Given the description of an element on the screen output the (x, y) to click on. 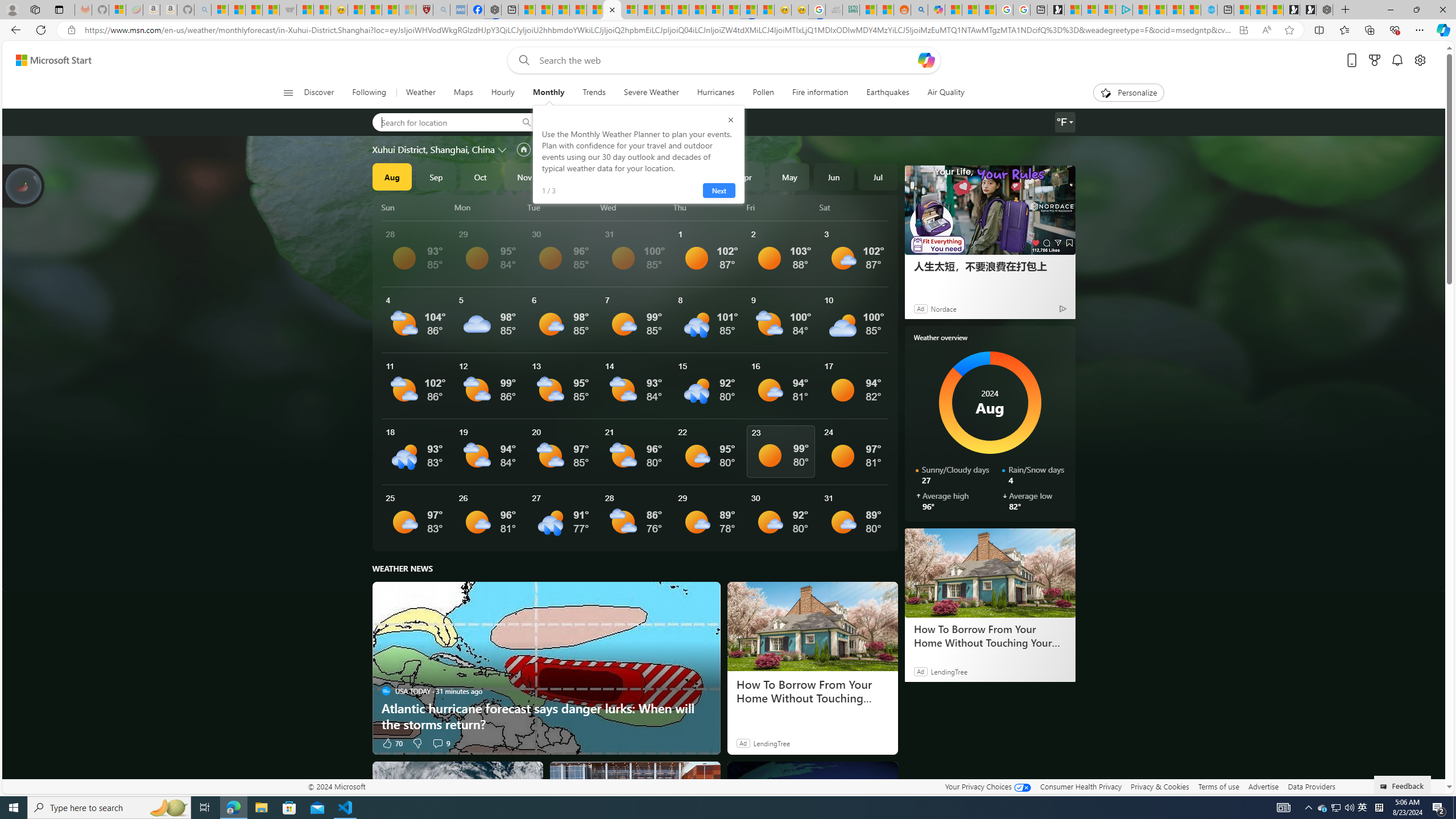
Web search (520, 60)
Search for location (440, 122)
Dec (568, 176)
Microsoft rewards (1374, 60)
Utah sues federal government - Search (919, 9)
Home | Sky Blue Bikes - Sky Blue Bikes (1208, 9)
